Given the description of an element on the screen output the (x, y) to click on. 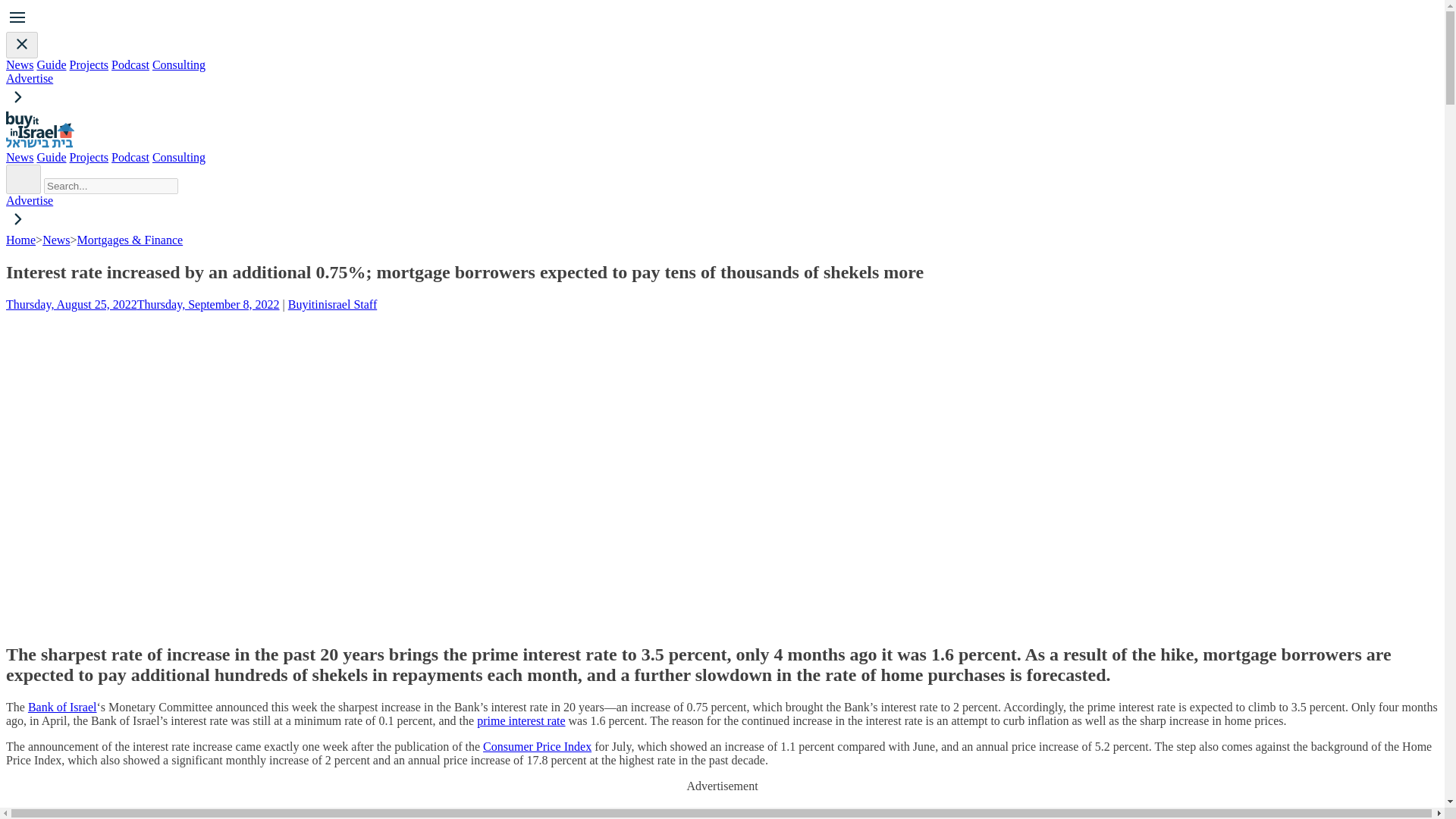
Consulting (178, 64)
Advertise (721, 98)
News (55, 239)
Bank of Israel (62, 707)
Podcast (130, 156)
Podcast (130, 64)
Consumer Price Index (537, 746)
prime interest rate (520, 720)
News (19, 64)
News (19, 156)
Guide (50, 64)
Home (19, 239)
Thursday, August 25, 2022Thursday, September 8, 2022 (142, 304)
Projects (89, 64)
